Given the description of an element on the screen output the (x, y) to click on. 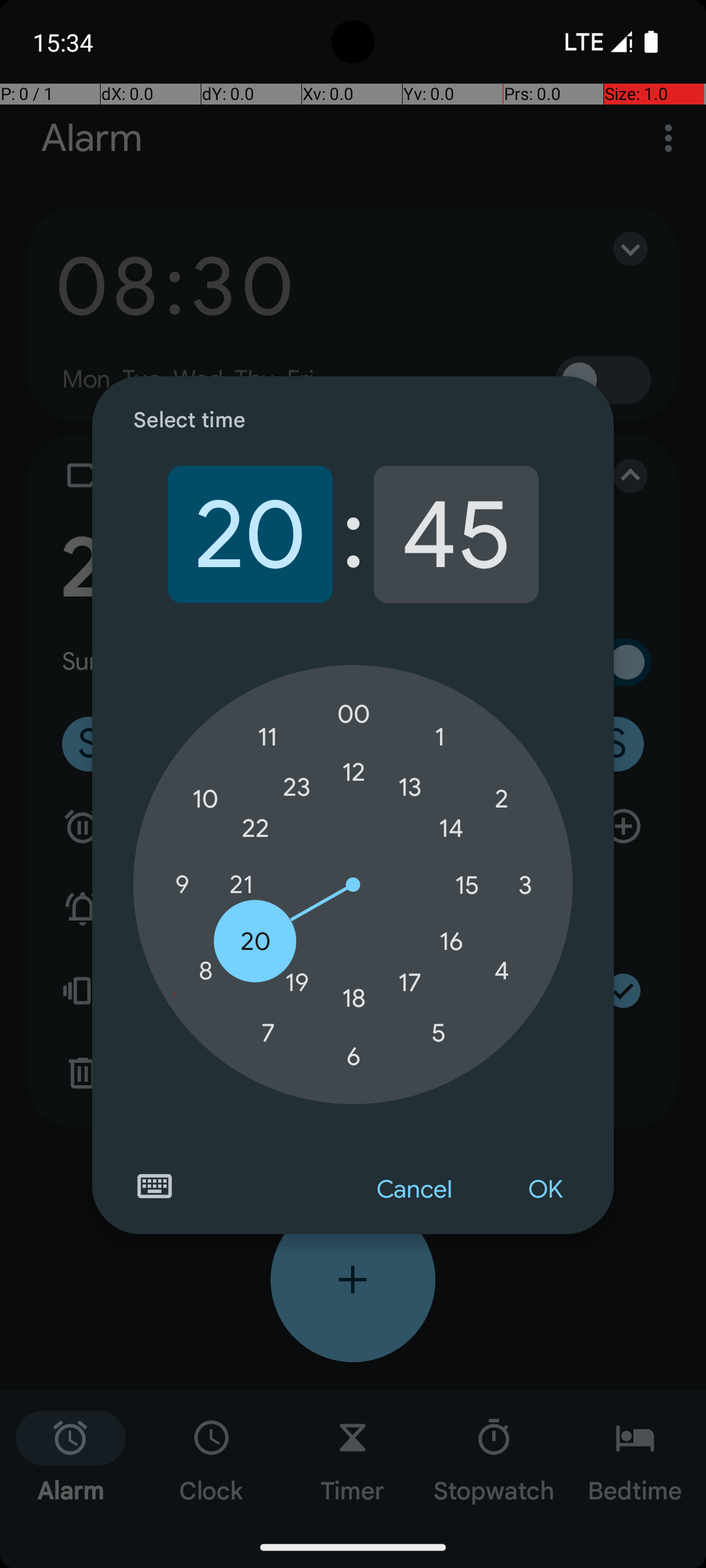
20 Element type: android.view.View (250, 534)
45 Element type: android.view.View (455, 534)
Switch to text input mode for the time input. Element type: android.widget.Button (154, 1186)
Cancel Element type: android.widget.Button (414, 1189)
OK Element type: android.widget.Button (545, 1189)
11 Element type: android.widget.TextView (267, 736)
10 Element type: android.widget.TextView (205, 798)
23 Element type: android.widget.TextView (296, 787)
12 Element type: android.widget.TextView (353, 772)
13 Element type: android.widget.TextView (409, 787)
21 Element type: android.widget.TextView (240, 884)
22 Element type: android.widget.TextView (255, 828)
14 Element type: android.widget.TextView (450, 828)
16 Element type: android.widget.TextView (450, 941)
15 Element type: android.widget.TextView (466, 885)
19 Element type: android.widget.TextView (296, 982)
18 Element type: android.widget.TextView (353, 998)
17 Element type: android.widget.TextView (409, 982)
